Given the description of an element on the screen output the (x, y) to click on. 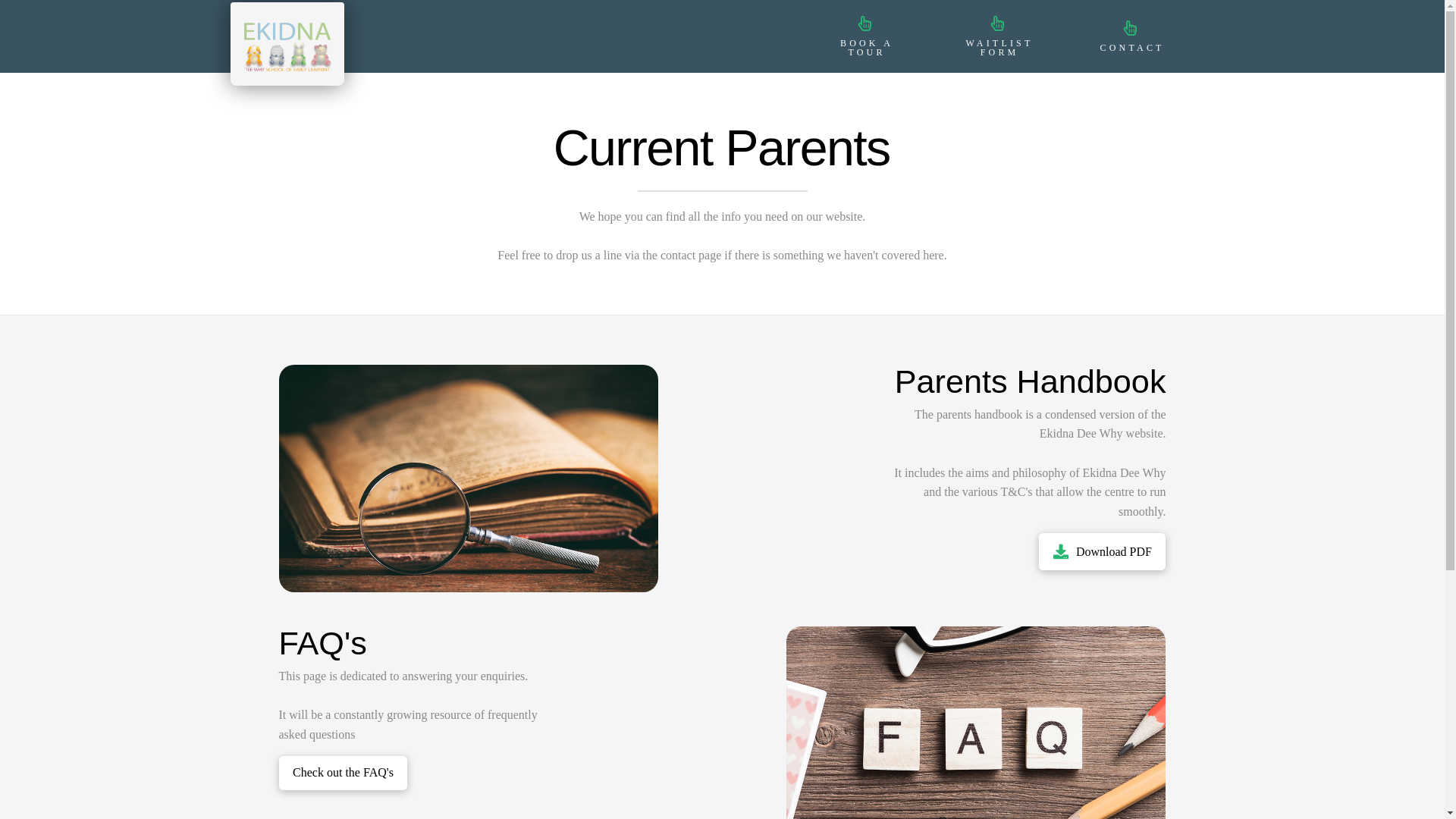
CONTACT Element type: text (1129, 36)
Check out the FAQ's Element type: text (343, 772)
WAITLIST FORM Element type: text (997, 36)
Download PDF Element type: text (1101, 551)
BOOK A TOUR Element type: text (864, 36)
